Given the description of an element on the screen output the (x, y) to click on. 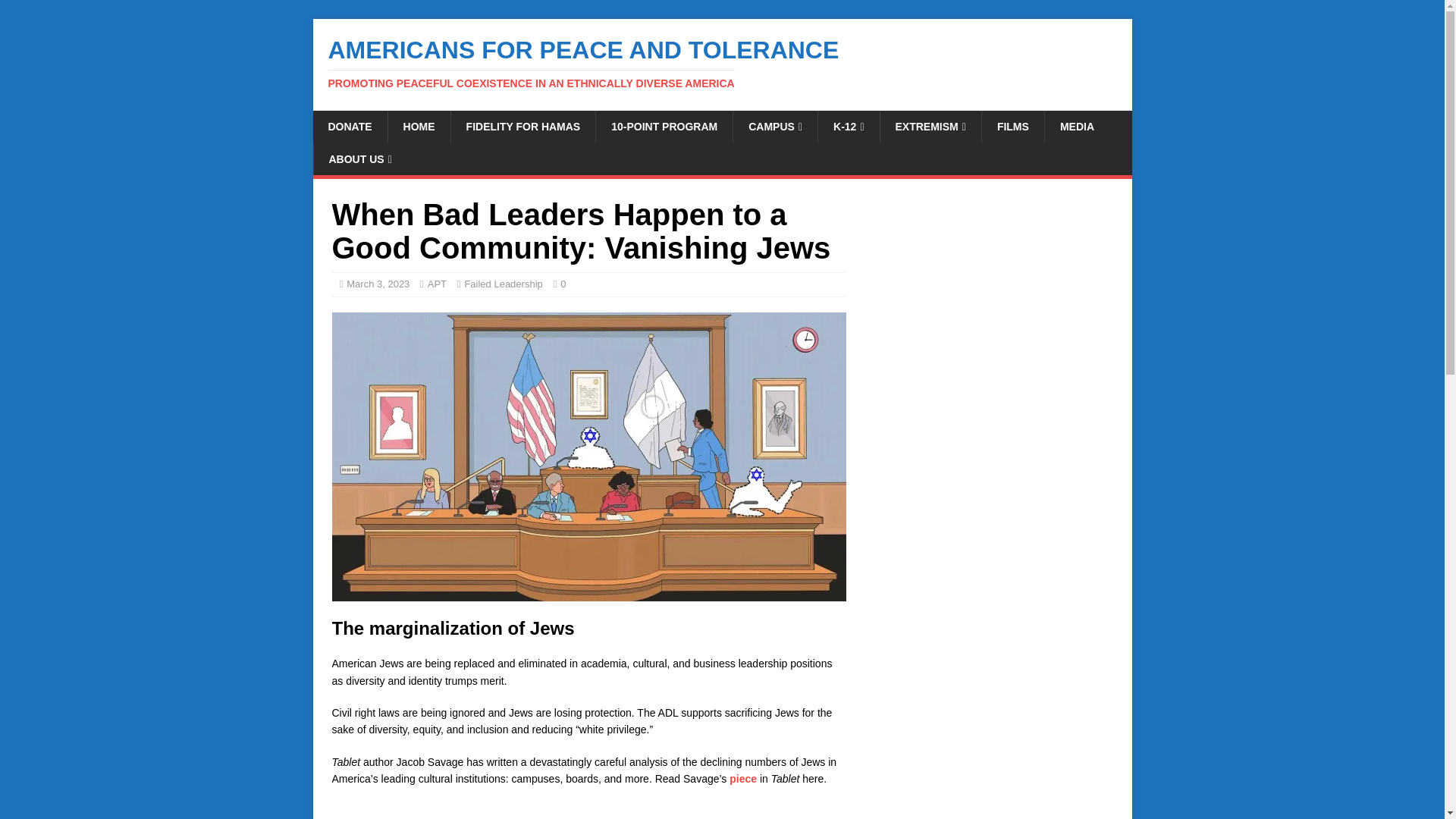
EXTREMISM (930, 126)
10-POINT PROGRAM (663, 126)
APT (437, 283)
DONATE (350, 126)
FIDELITY FOR HAMAS (522, 126)
Americans for Peace and Tolerance (721, 63)
HOME (418, 126)
Failed Leadership (502, 283)
ABOUT US (359, 159)
MEDIA (1076, 126)
March 3, 2023 (377, 283)
CAMPUS (774, 126)
piece (743, 778)
